Given the description of an element on the screen output the (x, y) to click on. 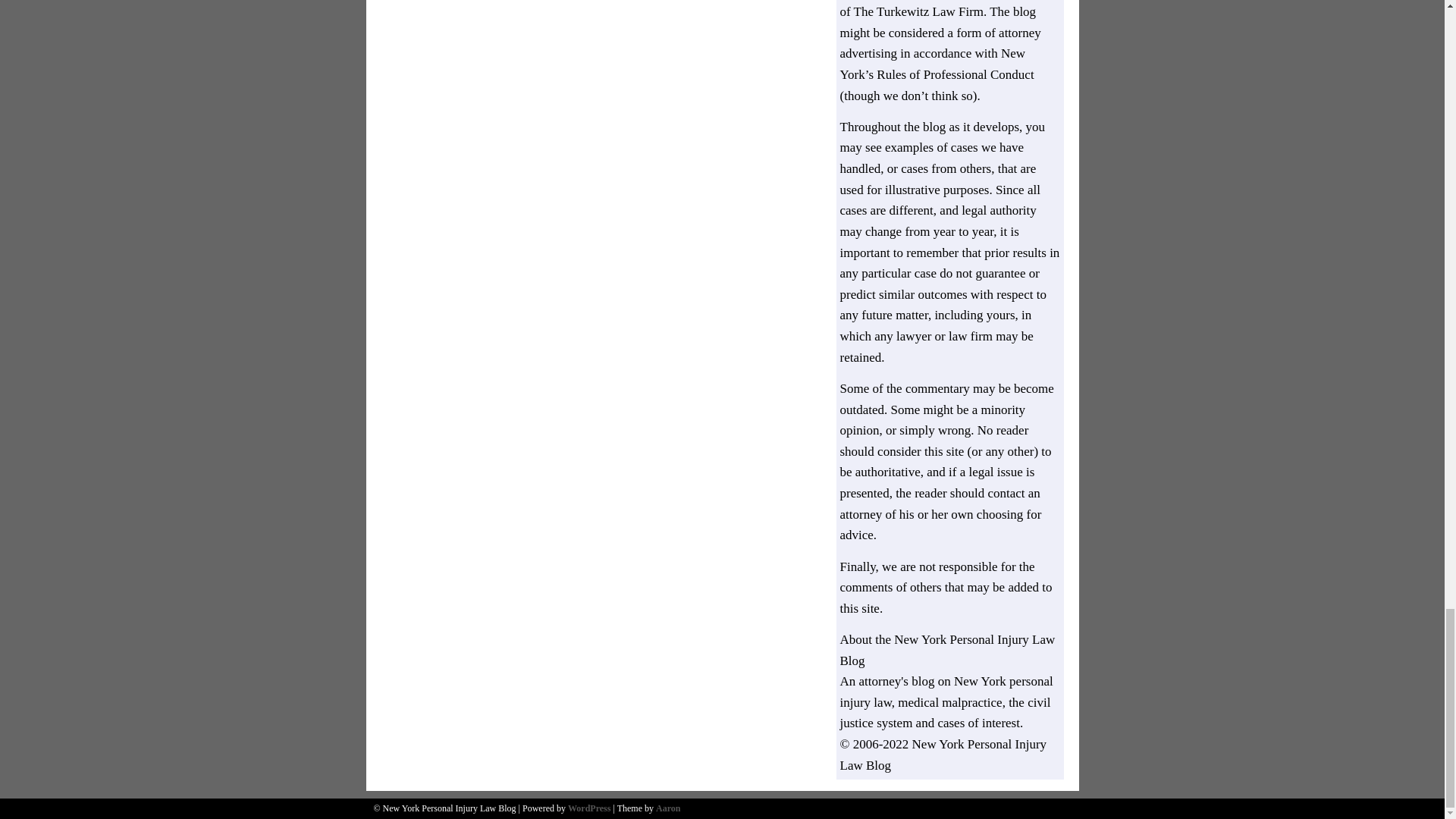
Freelance Theme Developer (667, 808)
Semantic Personal Publishing Platform (588, 808)
